Given the description of an element on the screen output the (x, y) to click on. 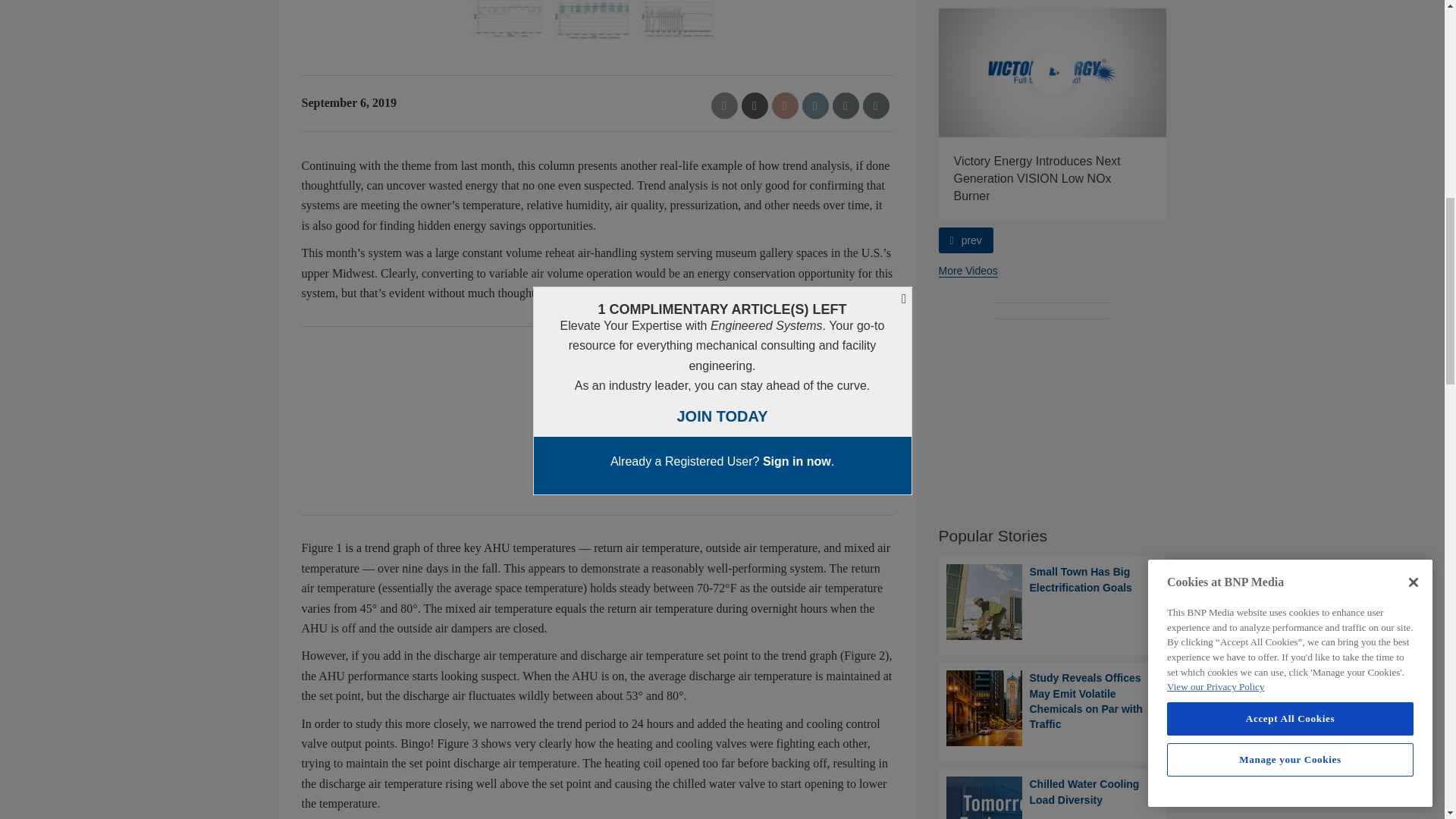
Small Town Has Big Electrification Goals (1052, 601)
Preferred Unveiling! (825, 72)
Chilled Water Cooling Load Diversity (1052, 797)
